Given the description of an element on the screen output the (x, y) to click on. 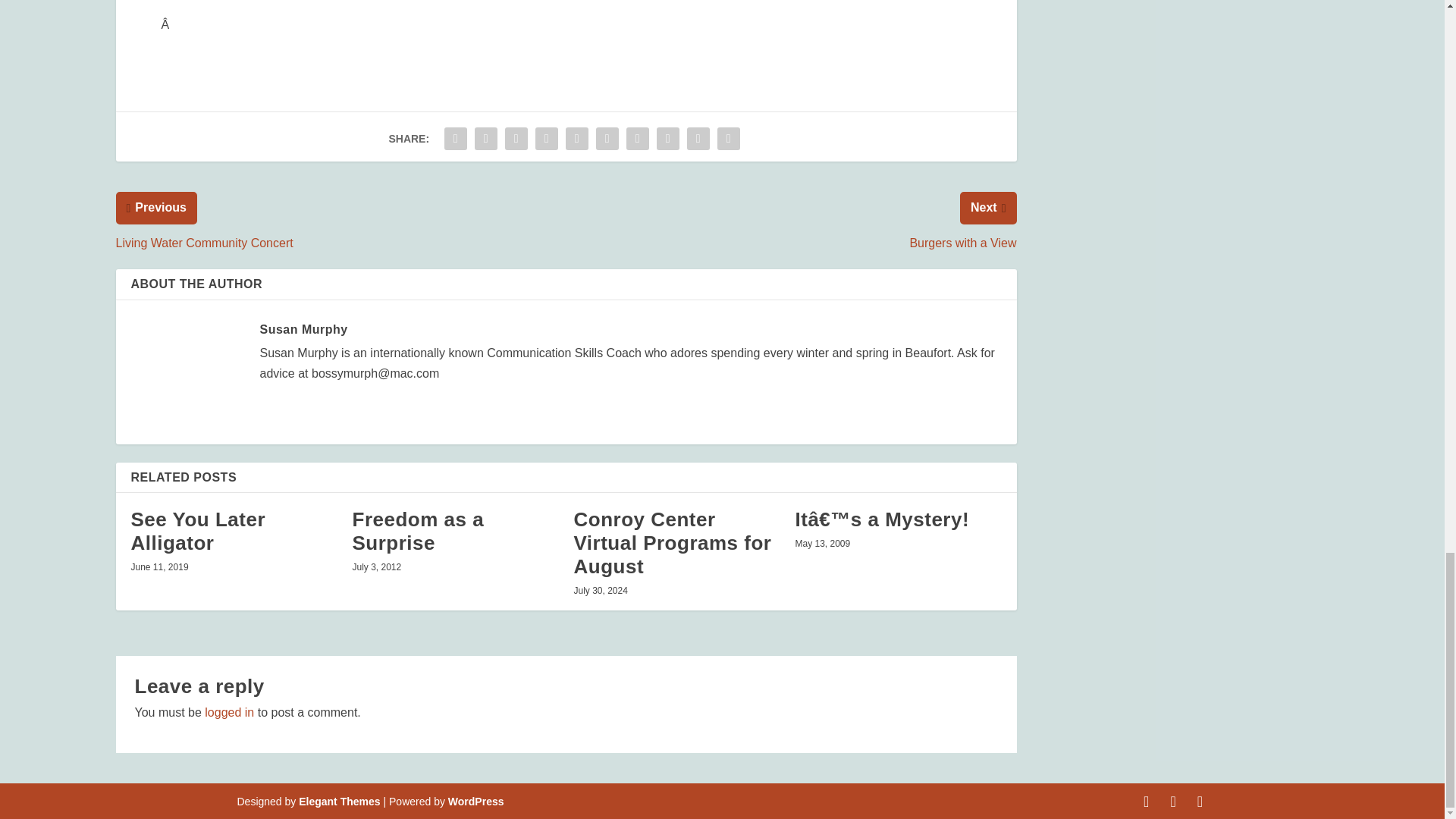
Share "The Bossy Critic" via Tumblr (546, 138)
Share "The Bossy Critic" via LinkedIn (607, 138)
Share "The Bossy Critic" via Pinterest (577, 138)
Share "The Bossy Critic" via Buffer (637, 138)
Share "The Bossy Critic" via Print (728, 138)
Share "The Bossy Critic" via Stumbleupon (667, 138)
Share "The Bossy Critic" via Twitter (485, 138)
Share "The Bossy Critic" via Email (697, 138)
Share "The Bossy Critic" via Facebook (455, 138)
